Given the description of an element on the screen output the (x, y) to click on. 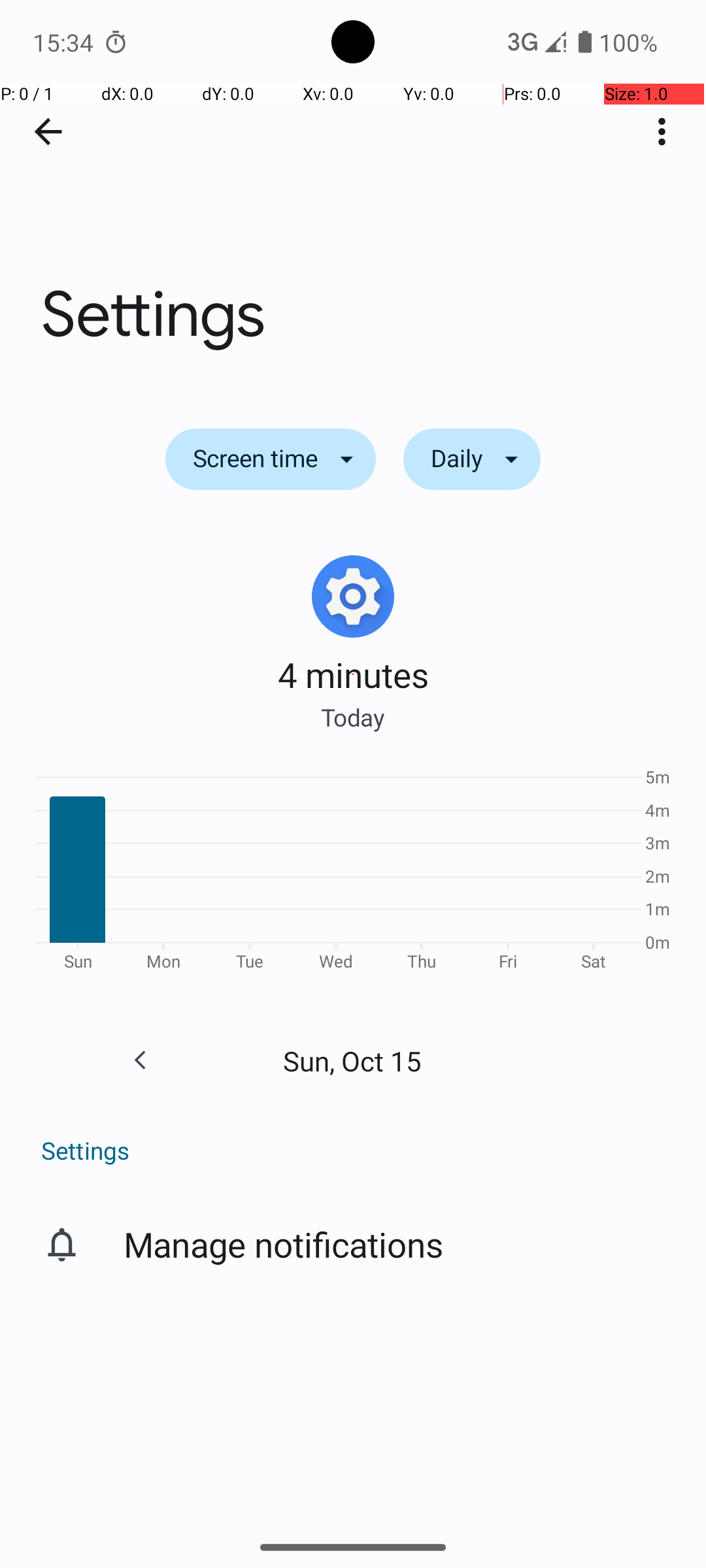
Screen time Element type: android.widget.Spinner (270, 459)
Daily Element type: android.widget.Spinner (471, 459)
4 minutes Element type: android.widget.TextView (353, 674)
Go to the previous day Element type: android.widget.Button (139, 1060)
Manage notifications Element type: android.widget.TextView (283, 1244)
